Given the description of an element on the screen output the (x, y) to click on. 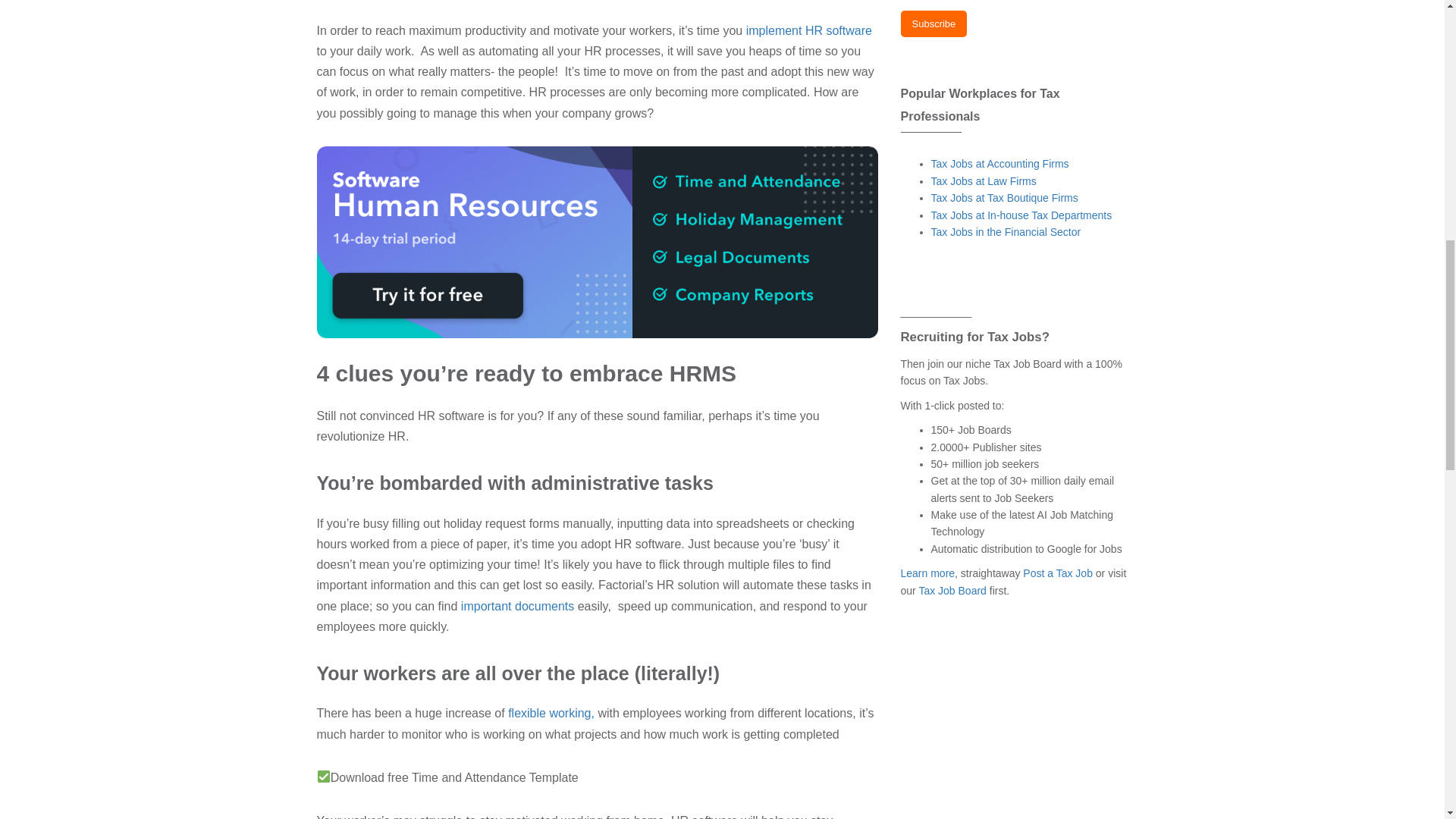
important documents (517, 605)
Subscribe (934, 23)
implement HR software (807, 30)
flexible working, (551, 712)
